Given the description of an element on the screen output the (x, y) to click on. 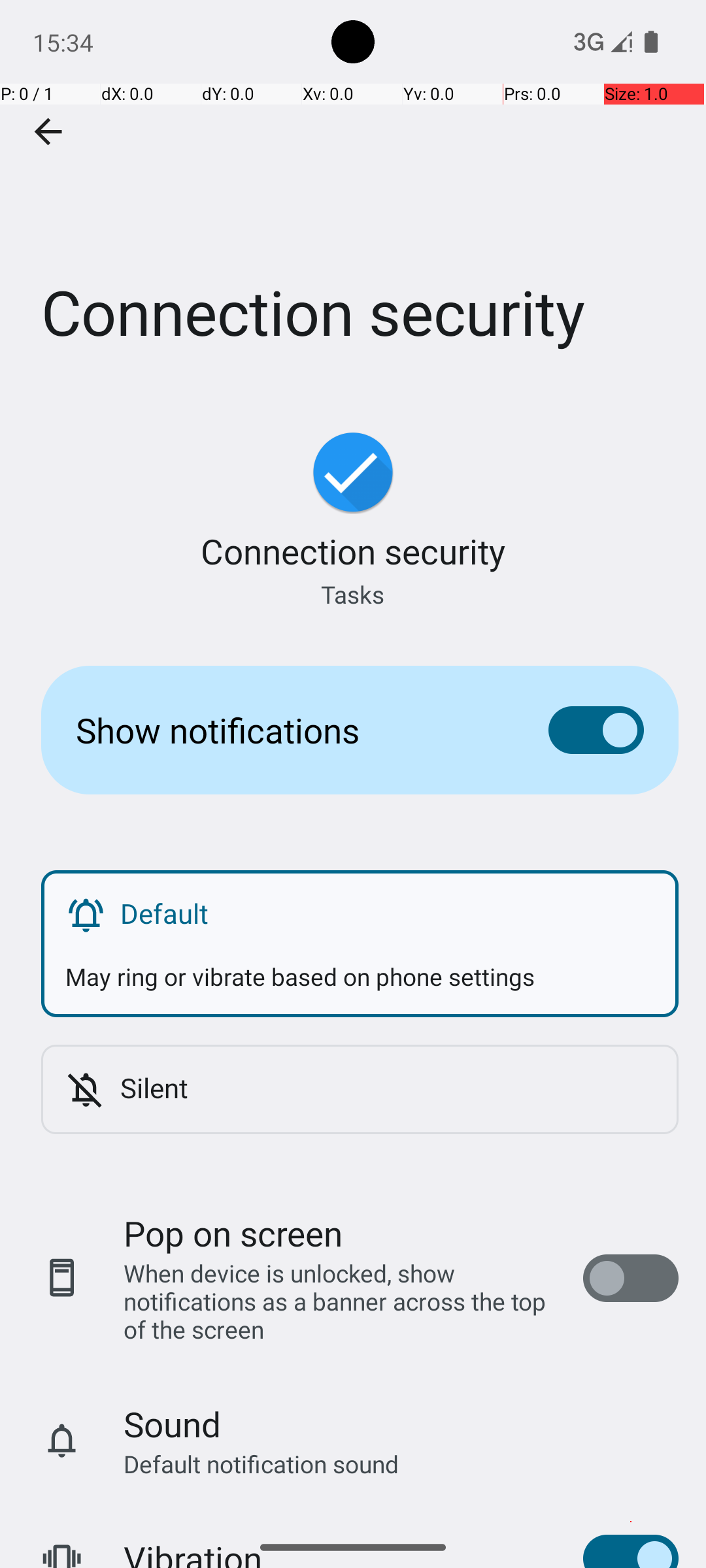
Connection security Element type: android.widget.FrameLayout (353, 195)
Show notifications Element type: android.widget.TextView (291, 729)
Pop on screen Element type: android.widget.TextView (233, 1232)
When device is unlocked, show notifications as a banner across the top of the screen Element type: android.widget.TextView (339, 1300)
Sound Element type: android.widget.TextView (171, 1423)
Default notification sound Element type: android.widget.TextView (260, 1463)
Default Element type: android.widget.TextView (387, 912)
May ring or vibrate based on phone settings Element type: android.widget.TextView (359, 964)
Silent Element type: android.widget.TextView (387, 1087)
